Given the description of an element on the screen output the (x, y) to click on. 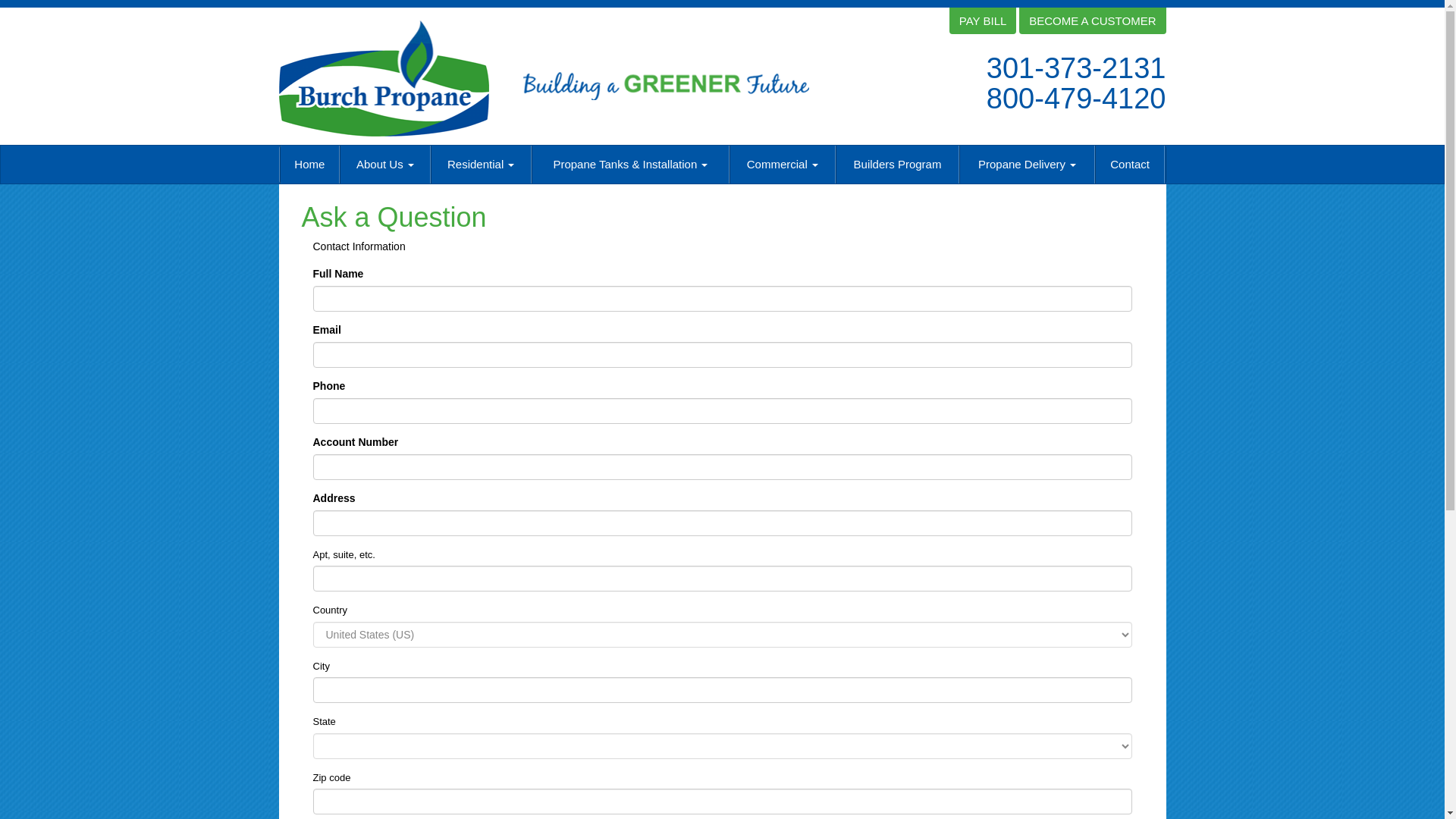
Contact (1130, 164)
Commercial (782, 164)
Residential (480, 164)
Propane Delivery (1026, 164)
About Us (384, 164)
Residential (480, 164)
PAY BILL (982, 20)
Home (309, 164)
Home (309, 164)
301-373-2131 (1076, 68)
